Given the description of an element on the screen output the (x, y) to click on. 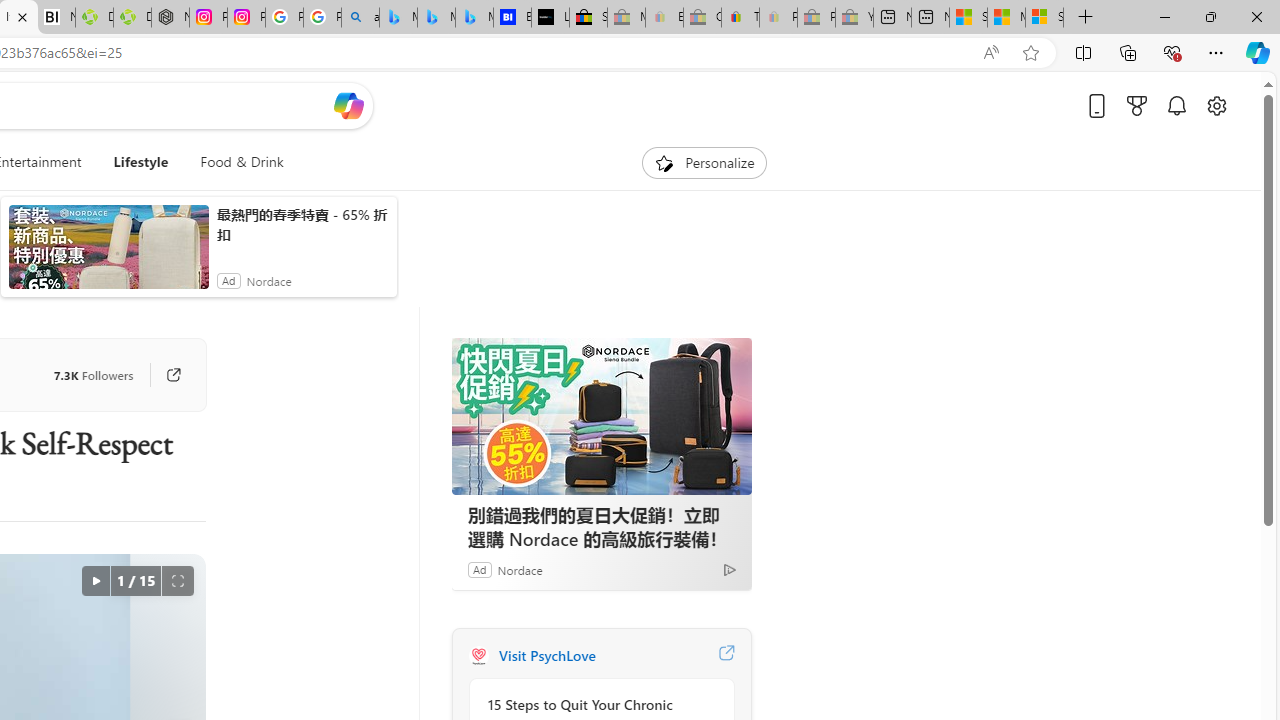
Lifestyle (140, 162)
Full screen (177, 580)
Nordace - Nordace Edin Collection (170, 17)
Food & Drink (241, 162)
Microsoft Bing Travel - Flights from Hong Kong to Bangkok (398, 17)
Payments Terms of Use | eBay.com - Sleeping (778, 17)
anim-content (107, 255)
Nvidia va a poner a prueba la paciencia de los inversores (56, 17)
Shanghai, China hourly forecast | Microsoft Weather (967, 17)
